Given the description of an element on the screen output the (x, y) to click on. 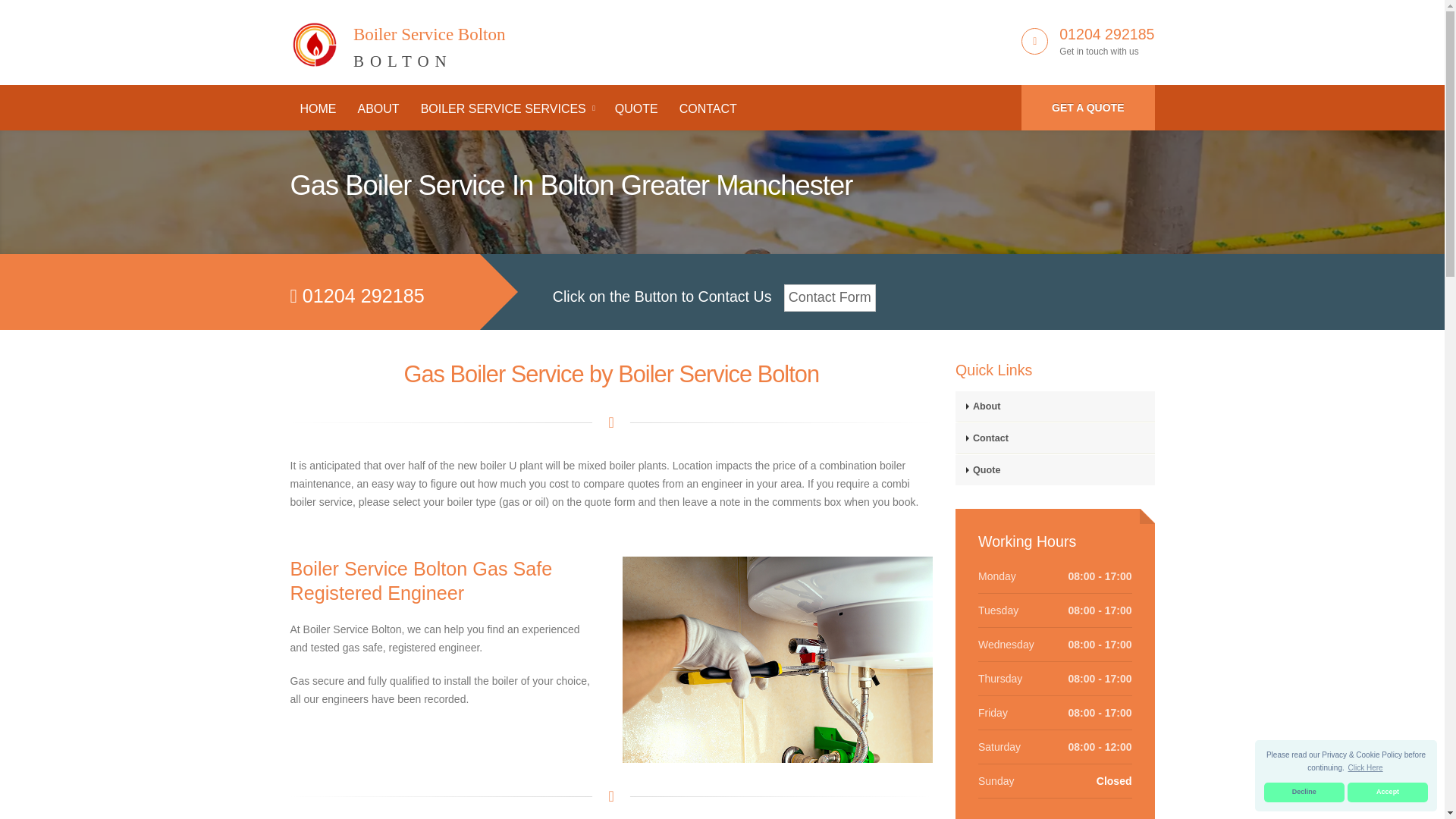
ABOUT (378, 109)
HOME (397, 38)
Accept (317, 109)
Decline (1388, 792)
Click Here (1303, 792)
GET A QUOTE (1365, 767)
BOILER SERVICE SERVICES (1088, 107)
01204 292185 (507, 109)
